Given the description of an element on the screen output the (x, y) to click on. 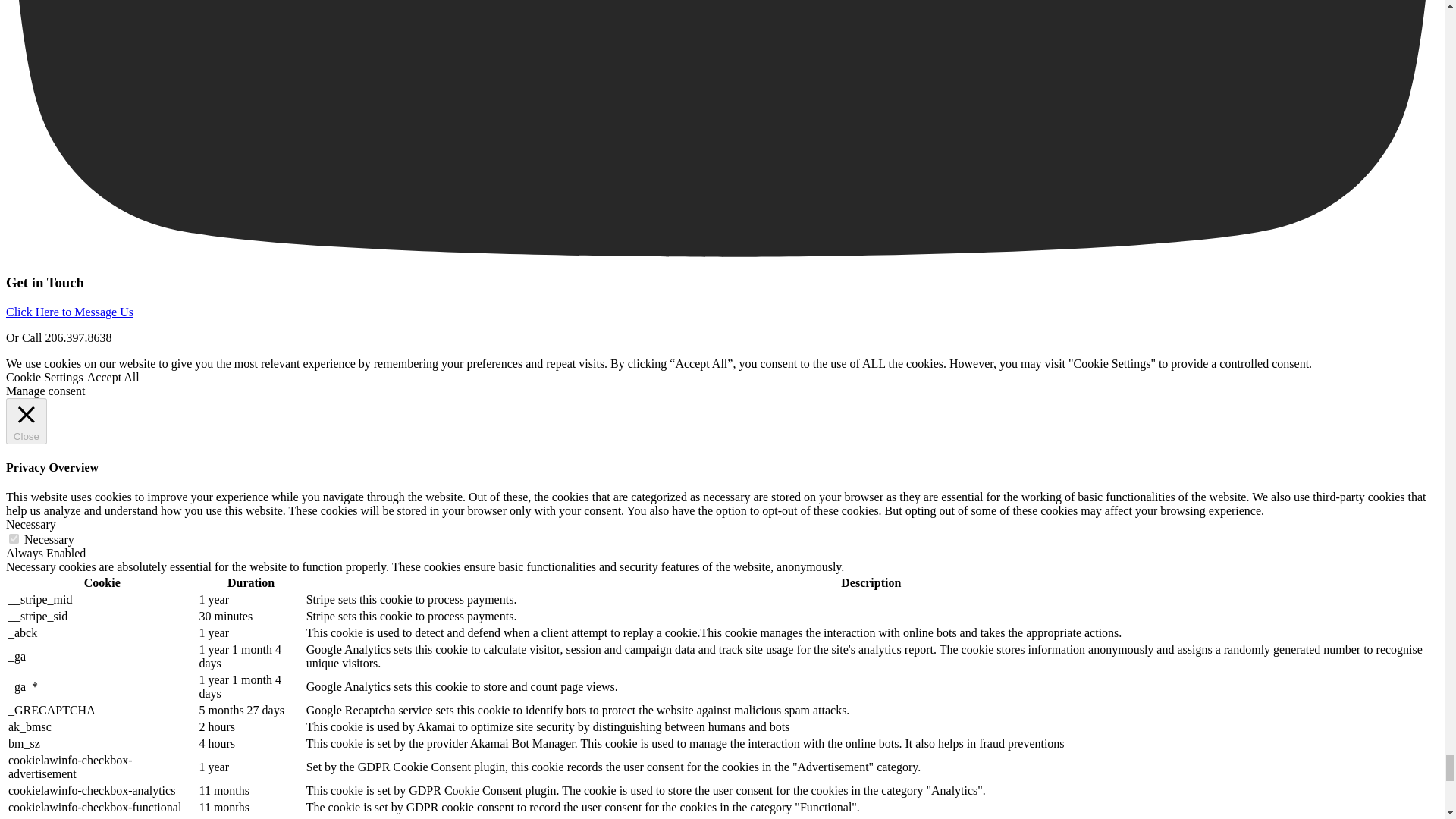
on (13, 538)
Email Swift Industries (69, 311)
